Given the description of an element on the screen output the (x, y) to click on. 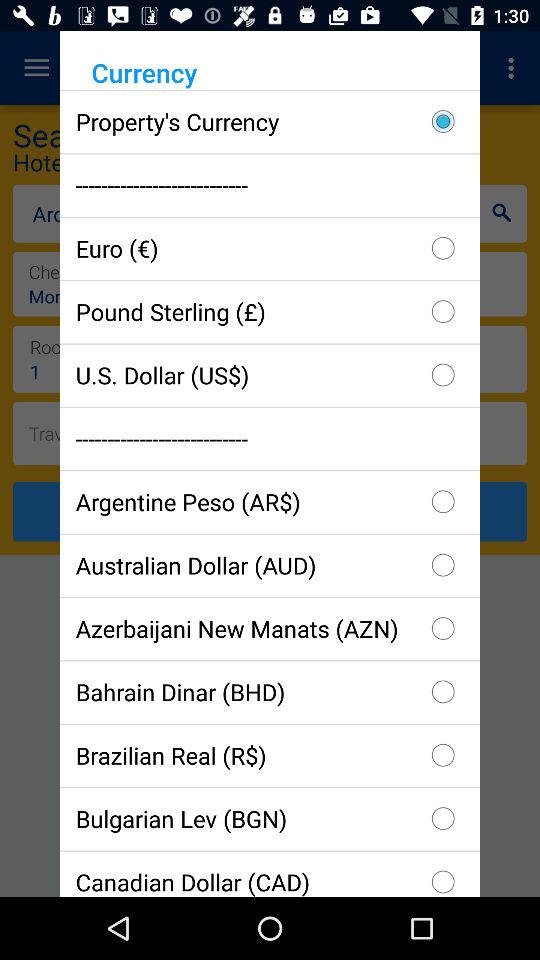
press item below the argentine peso (ar$) checkbox (270, 564)
